Given the description of an element on the screen output the (x, y) to click on. 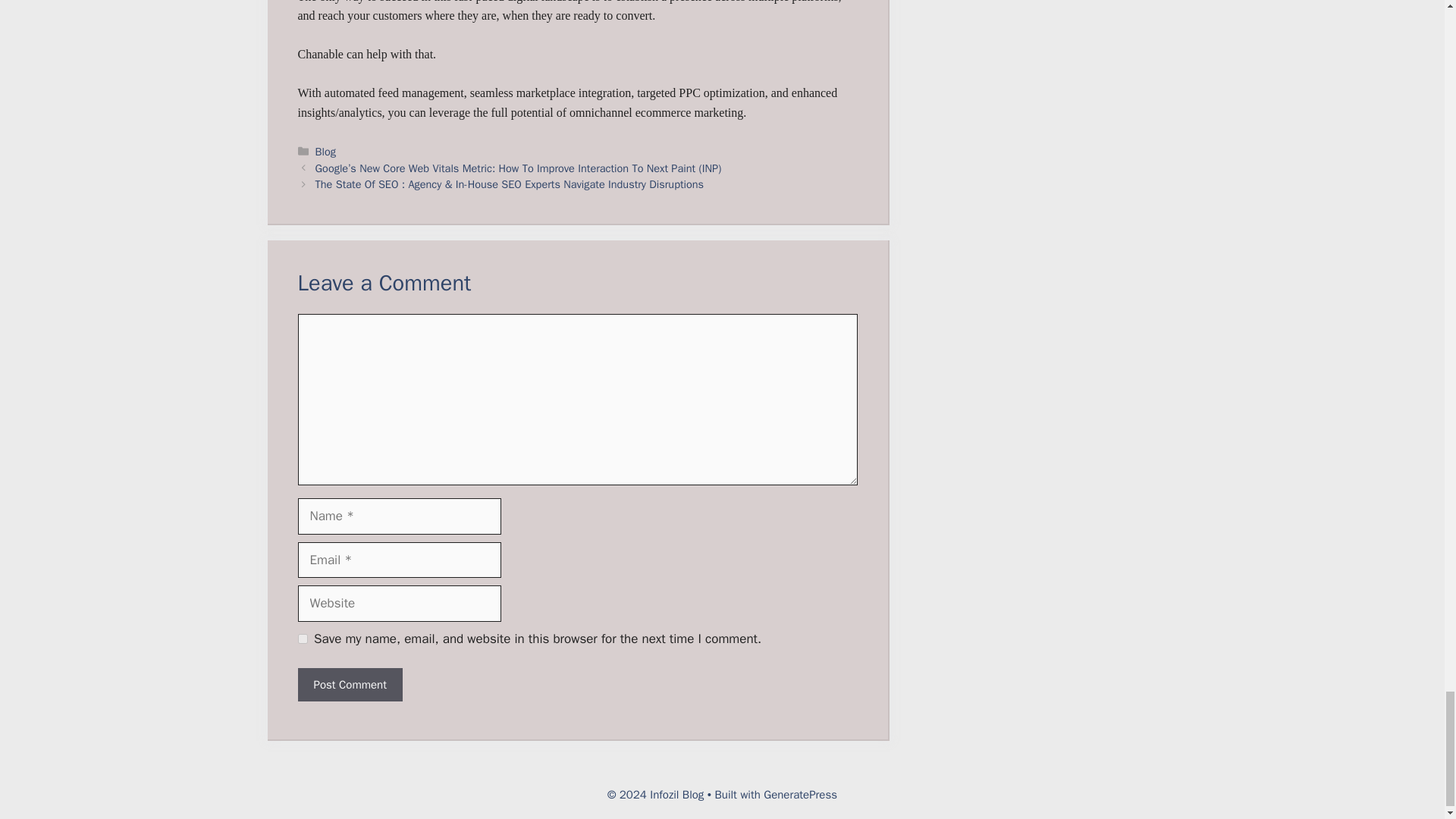
yes (302, 638)
Blog (325, 151)
Post Comment (349, 684)
Post Comment (349, 684)
